Given the description of an element on the screen output the (x, y) to click on. 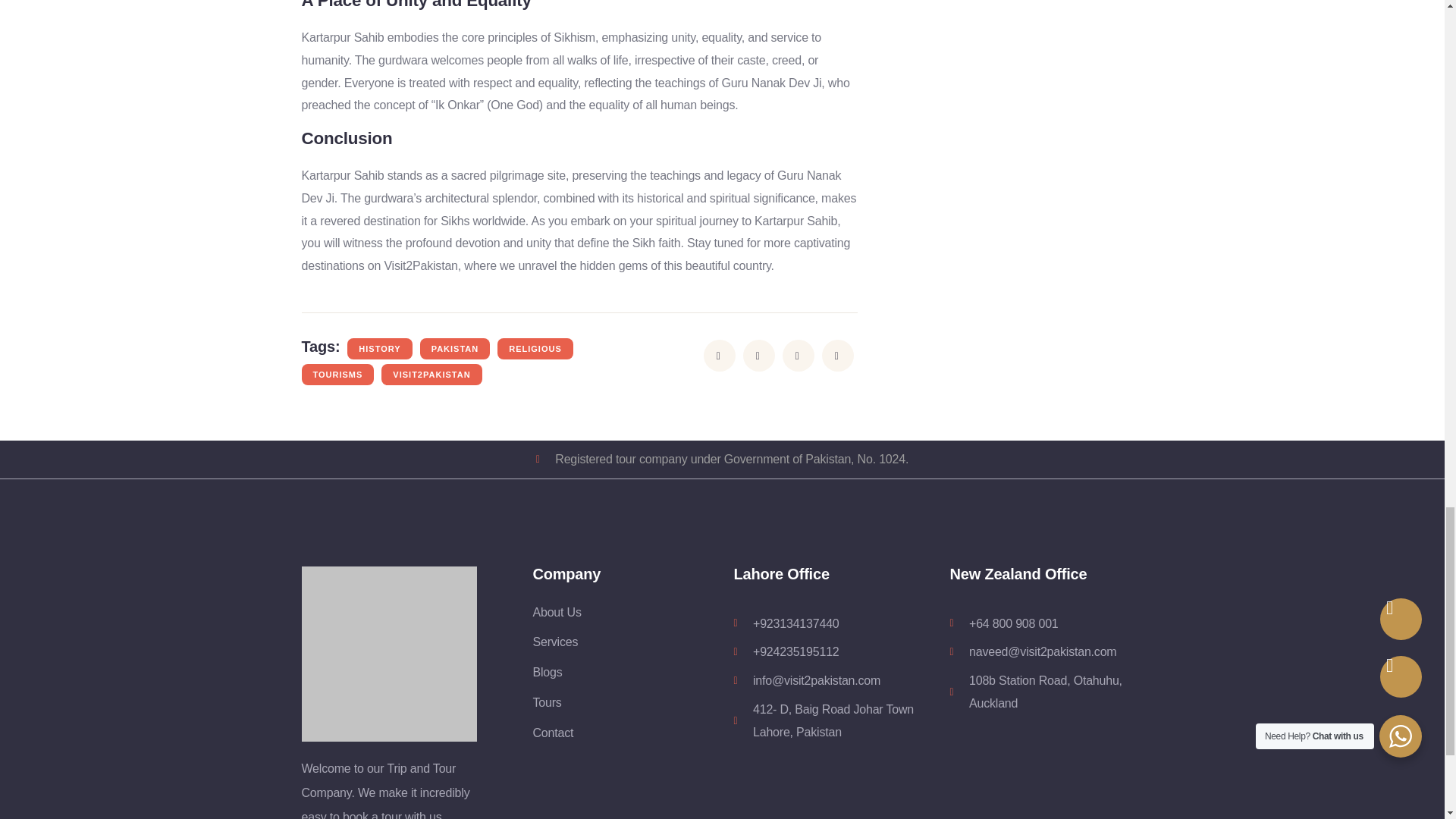
RELIGIOUS (535, 348)
VISIT2PAKISTAN (431, 373)
PAKISTAN (455, 348)
HISTORY (379, 348)
TOURISMS (337, 373)
